Given the description of an element on the screen output the (x, y) to click on. 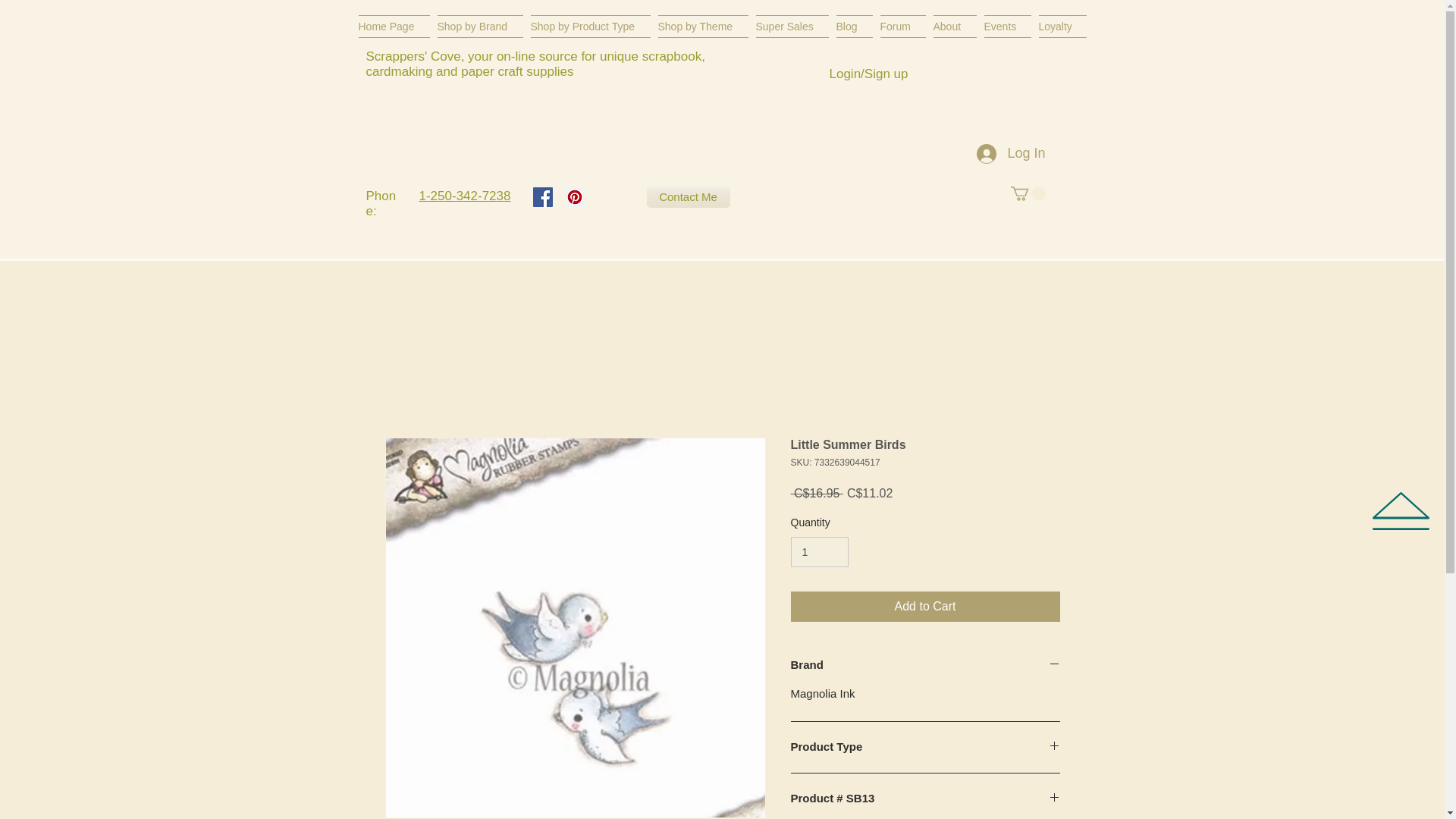
Home Page (395, 26)
1 (818, 552)
Shop by Brand (480, 26)
